Given the description of an element on the screen output the (x, y) to click on. 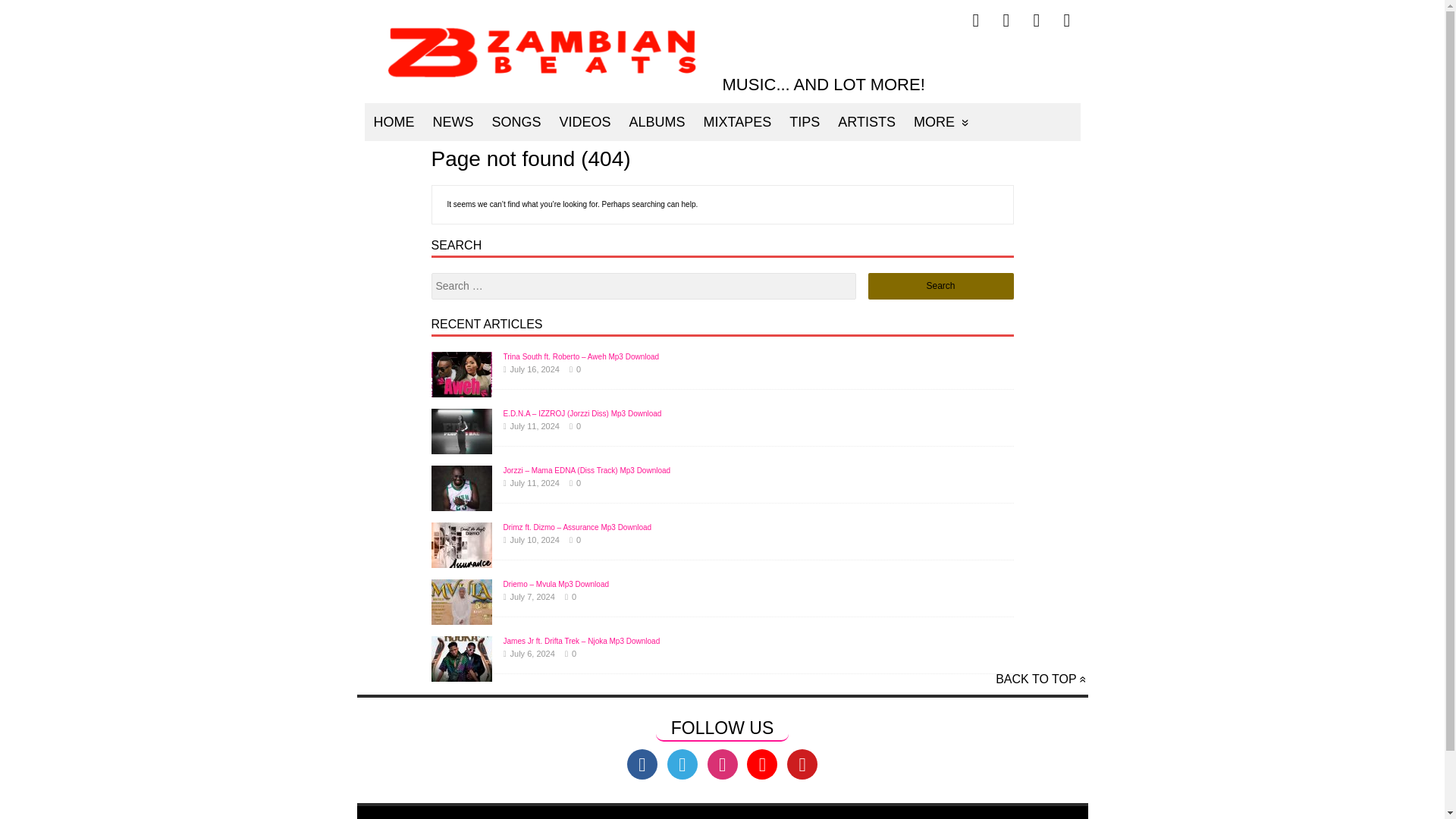
Search (940, 285)
Follow Zambianbeats.com on Twitter (1006, 20)
HOME (393, 121)
VIDEOS (585, 121)
instagram (721, 764)
MORE (941, 121)
TIPS (804, 121)
Follow Zambianbeats.com on Instagram (1067, 20)
ALBUMS (657, 121)
Search (940, 285)
